Given the description of an element on the screen output the (x, y) to click on. 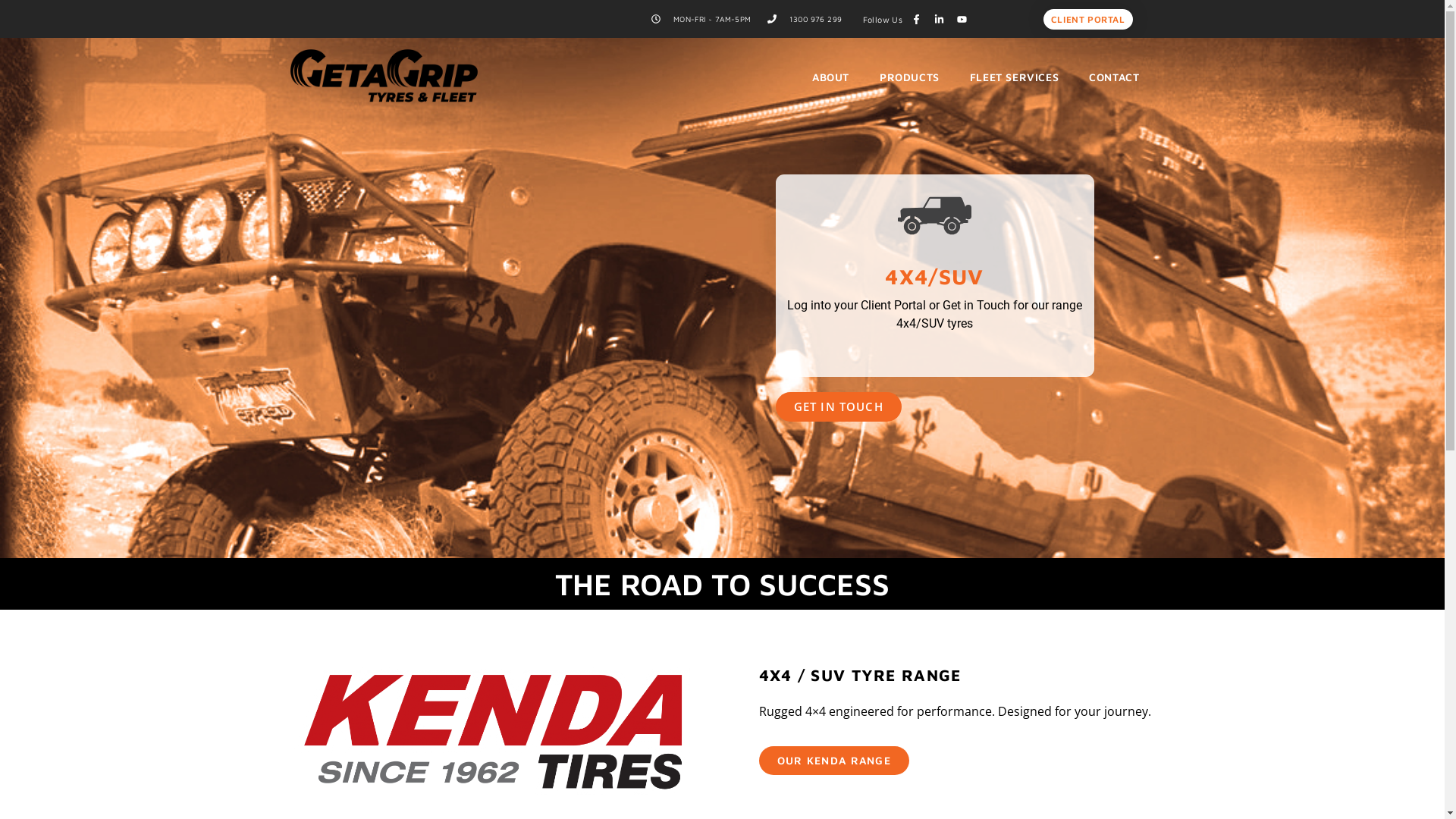
OUR KENDA RANGE Element type: text (834, 760)
1300 976 299 Element type: text (804, 19)
ABOUT Element type: text (830, 76)
PRODUCTS Element type: text (909, 76)
FLEET SERVICES Element type: text (1013, 76)
CONTACT Element type: text (1113, 76)
GET IN TOUCH Element type: text (837, 406)
CLIENT PORTAL Element type: text (1087, 19)
